Given the description of an element on the screen output the (x, y) to click on. 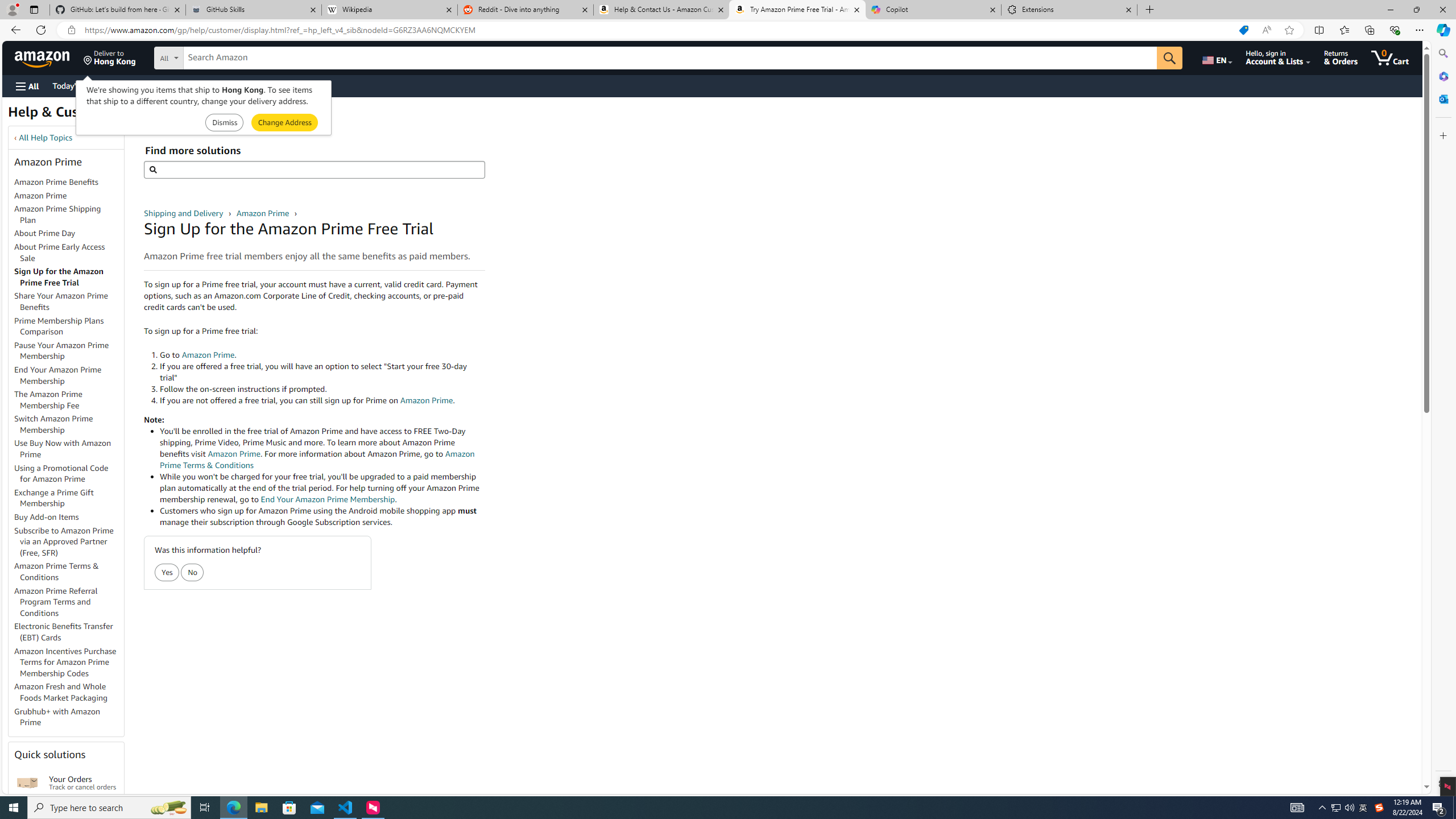
Skip to main content (48, 56)
Pause Your Amazon Prime Membership (68, 350)
End Your Amazon Prime Membership (68, 375)
No (192, 572)
Go to Amazon Prime. (322, 354)
Back (13, 29)
Shopping in Microsoft Edge (1243, 29)
New Tab (1149, 9)
Customer Service (145, 85)
